Given the description of an element on the screen output the (x, y) to click on. 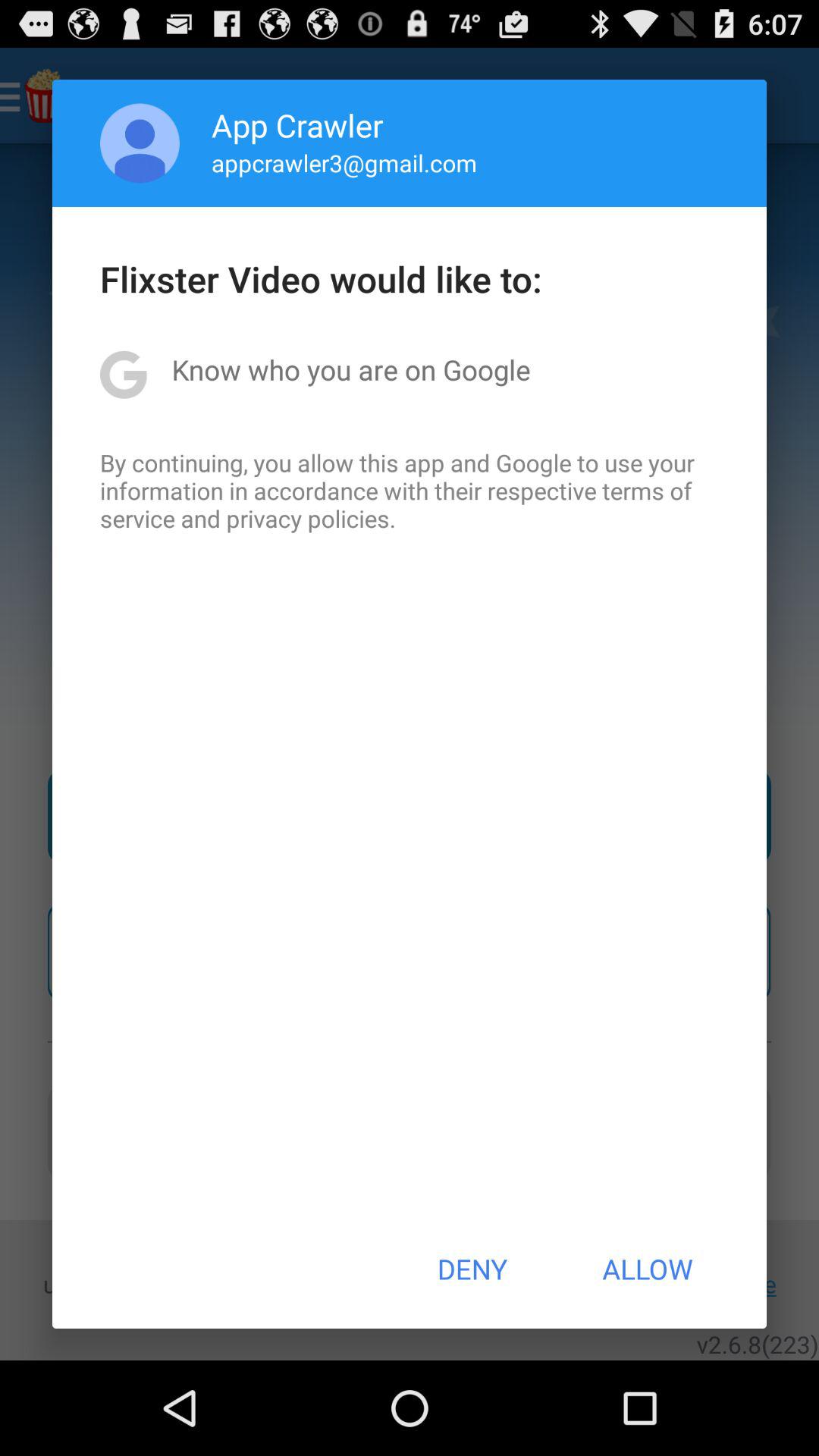
jump until know who you app (350, 369)
